Given the description of an element on the screen output the (x, y) to click on. 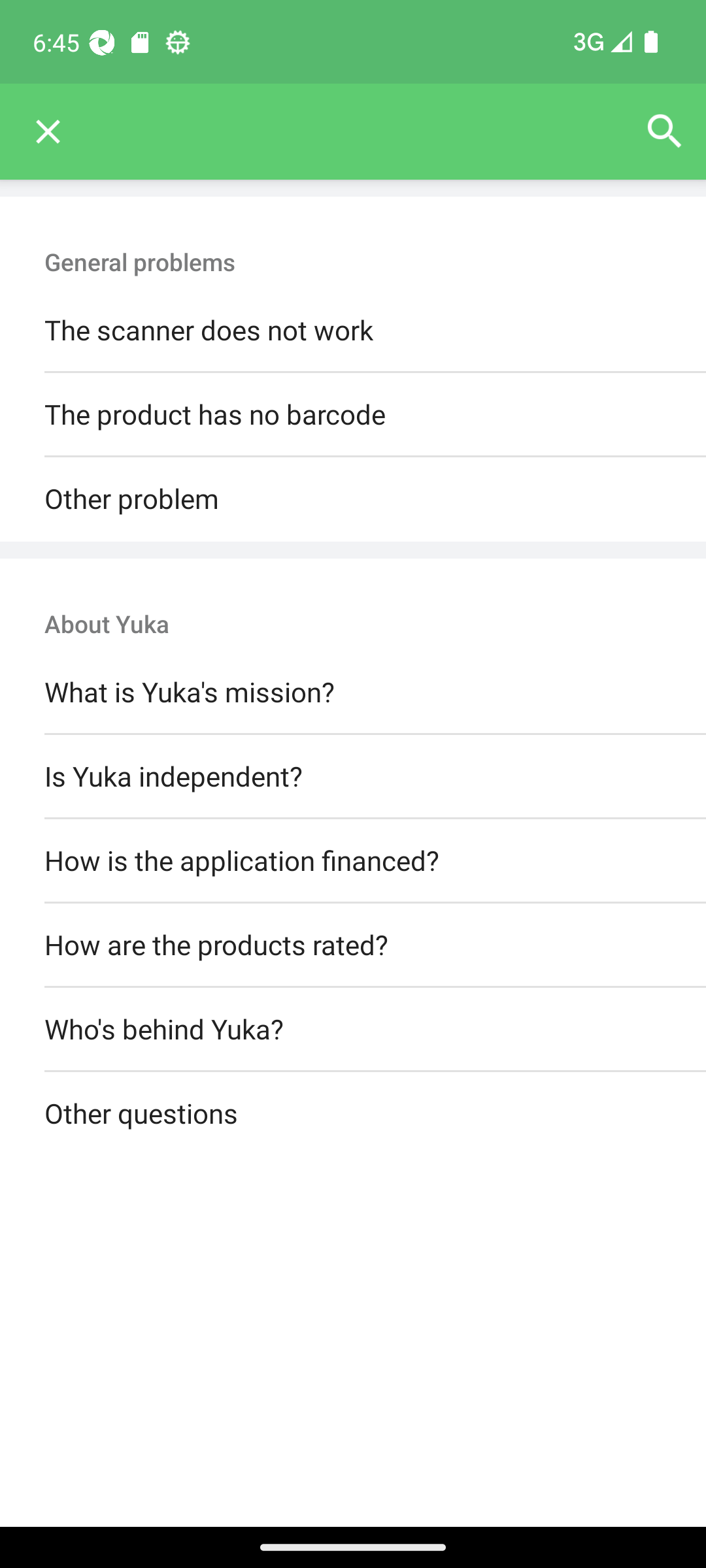
Search (664, 131)
The scanner does not work (353, 330)
The product has no barcode (353, 415)
Other problem (353, 498)
What is Yuka's mission? (353, 692)
Is Yuka independent? (353, 776)
How is the application financed? (353, 860)
How are the products rated? (353, 945)
Who's behind Yuka? (353, 1029)
Other questions (353, 1114)
